Given the description of an element on the screen output the (x, y) to click on. 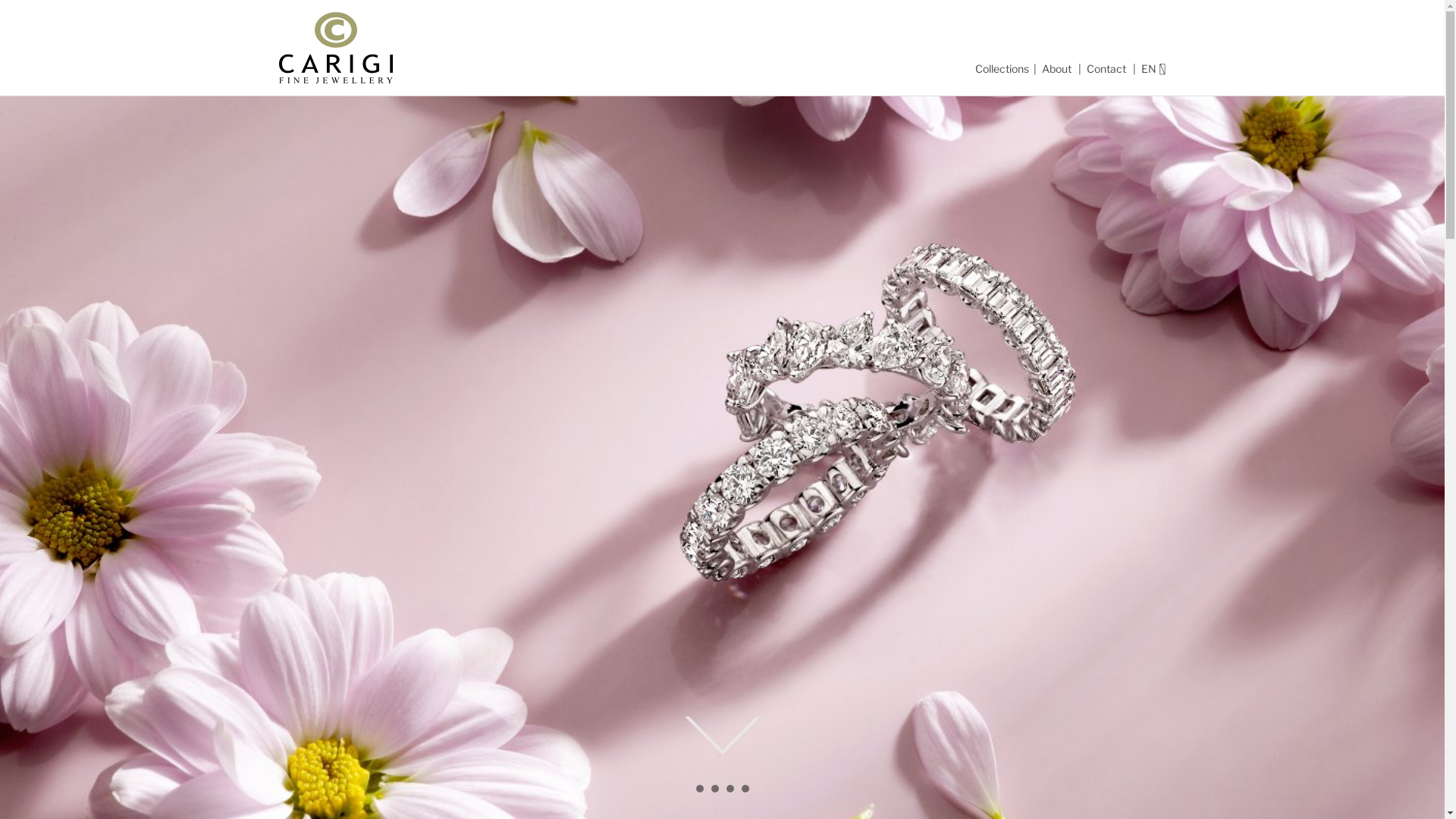
About Element type: text (1057, 68)
2 Element type: text (714, 792)
Collections Element type: text (1002, 68)
4 Element type: text (744, 792)
1 Element type: text (699, 792)
3 Element type: text (729, 792)
Contact Element type: text (1106, 68)
